Given the description of an element on the screen output the (x, y) to click on. 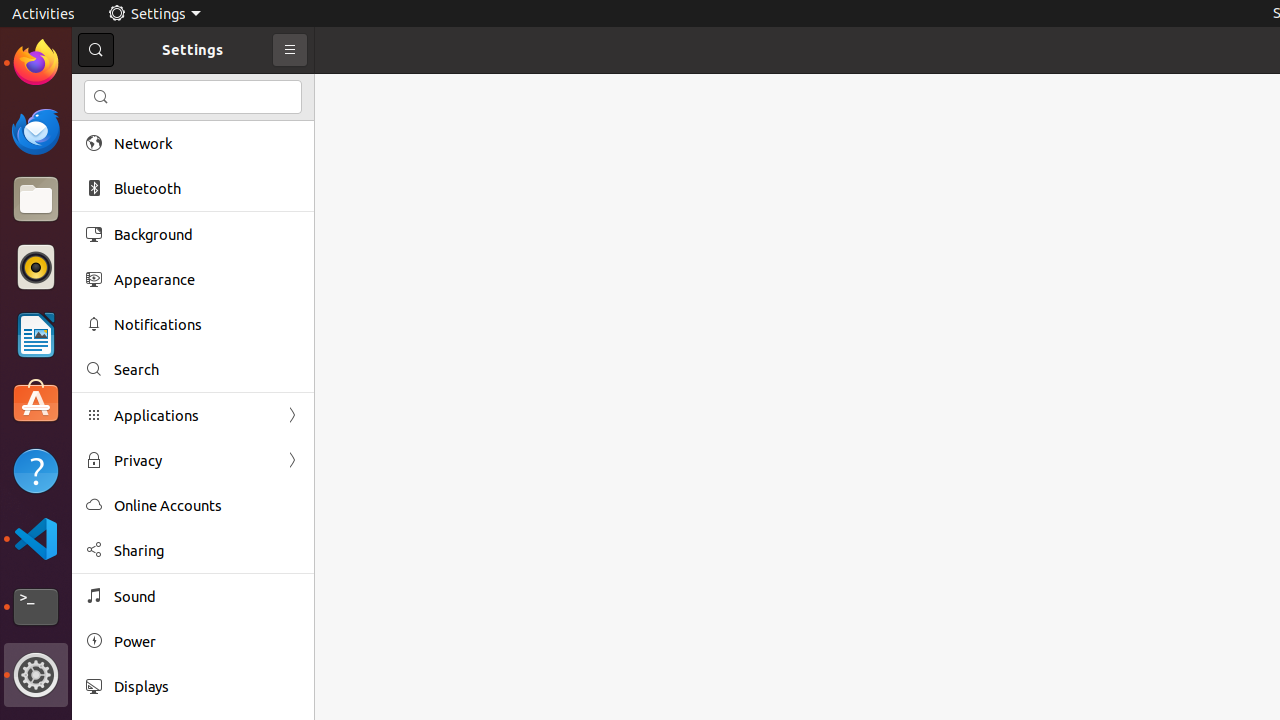
Activities Element type: label (43, 13)
Forward Element type: icon (292, 460)
Appearance Element type: label (207, 279)
Settings Element type: menu (154, 13)
